Given the description of an element on the screen output the (x, y) to click on. 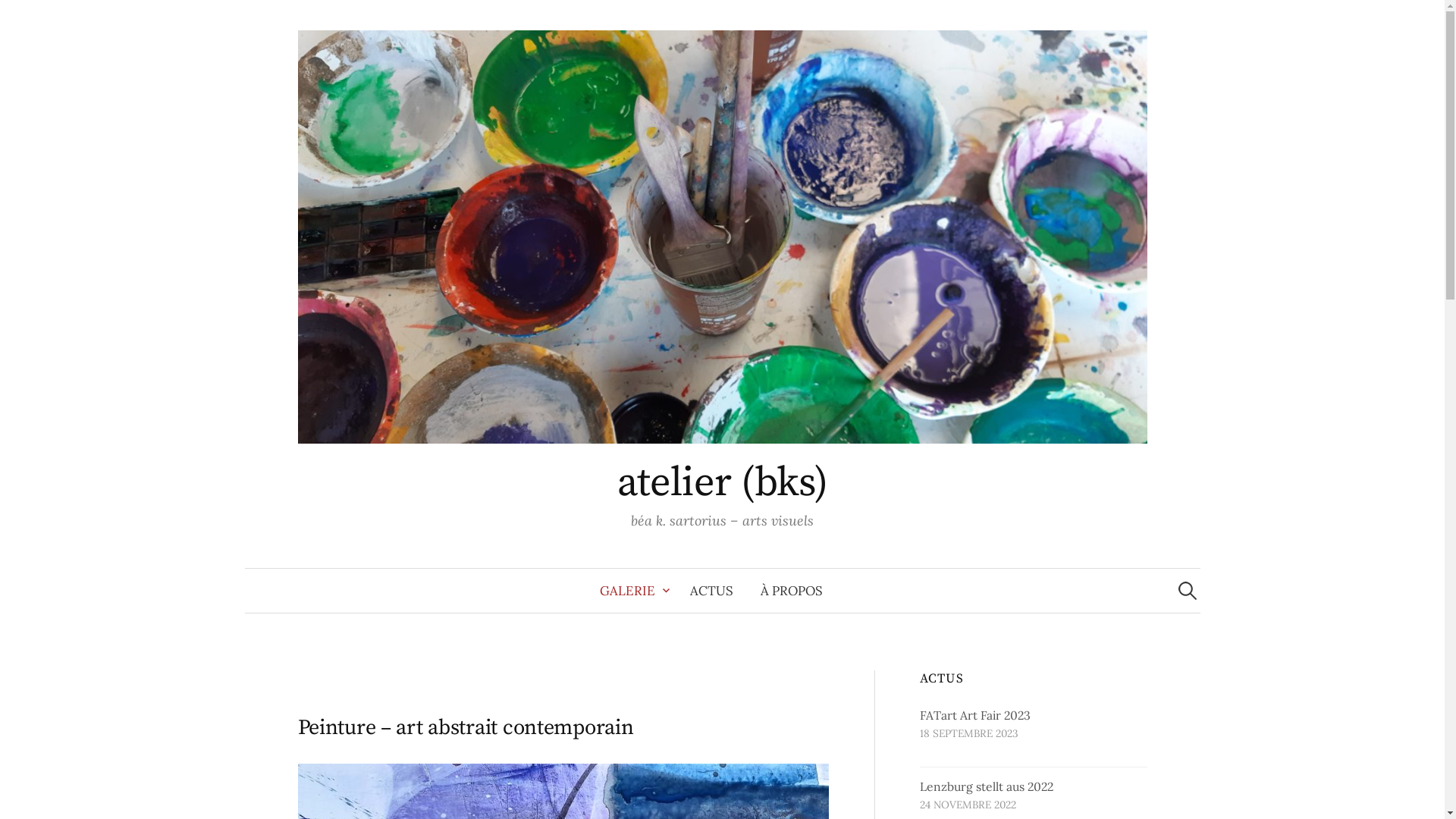
FATart Art Fair 2023 Element type: text (974, 714)
ACTUS Element type: text (711, 590)
Lenzburg stellt aus 2022 Element type: text (986, 785)
GALERIE Element type: text (630, 590)
atelier (bks) Element type: text (722, 482)
Rechercher Element type: text (18, 18)
